Given the description of an element on the screen output the (x, y) to click on. 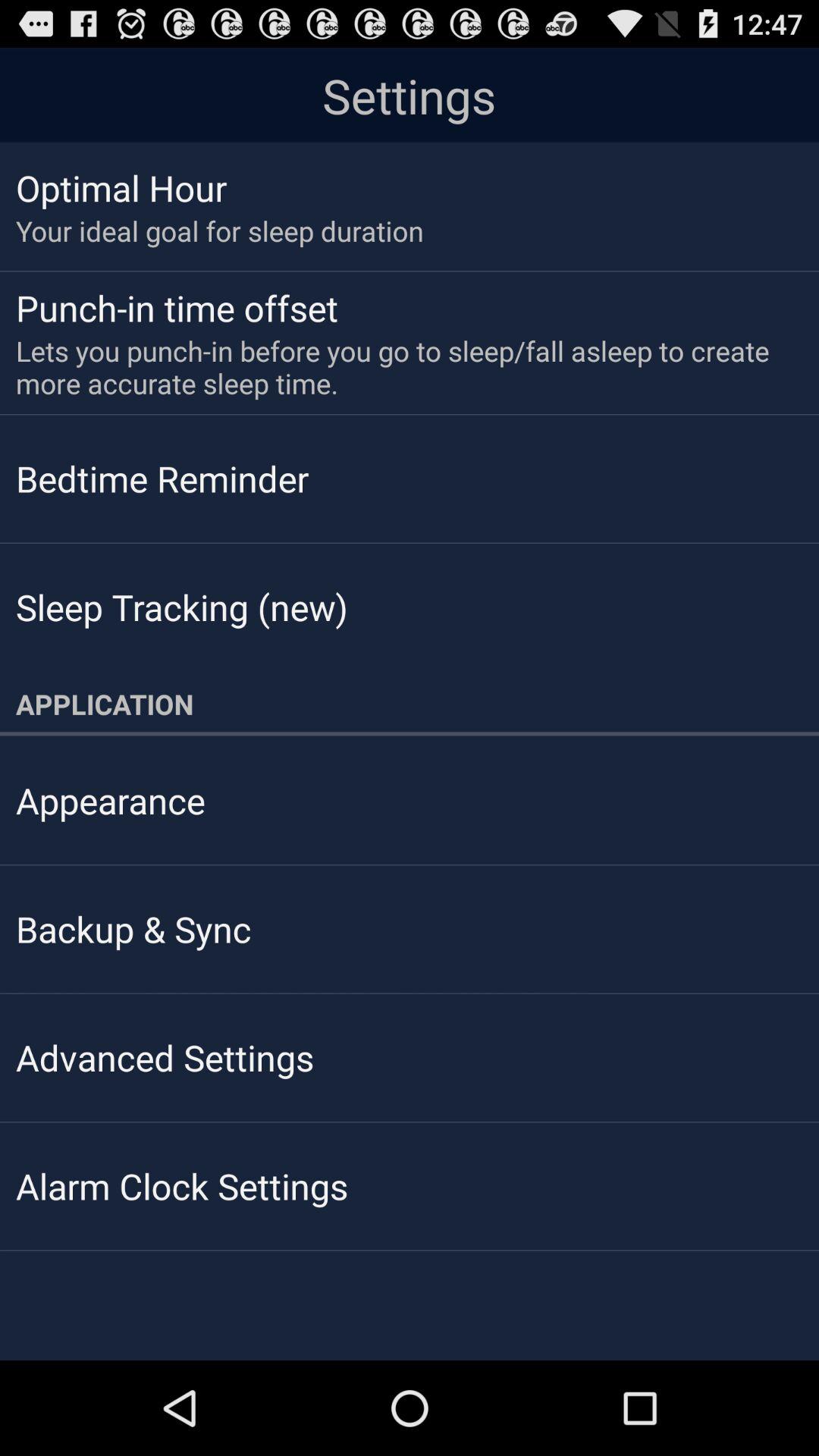
jump to advanced settings (164, 1057)
